Given the description of an element on the screen output the (x, y) to click on. 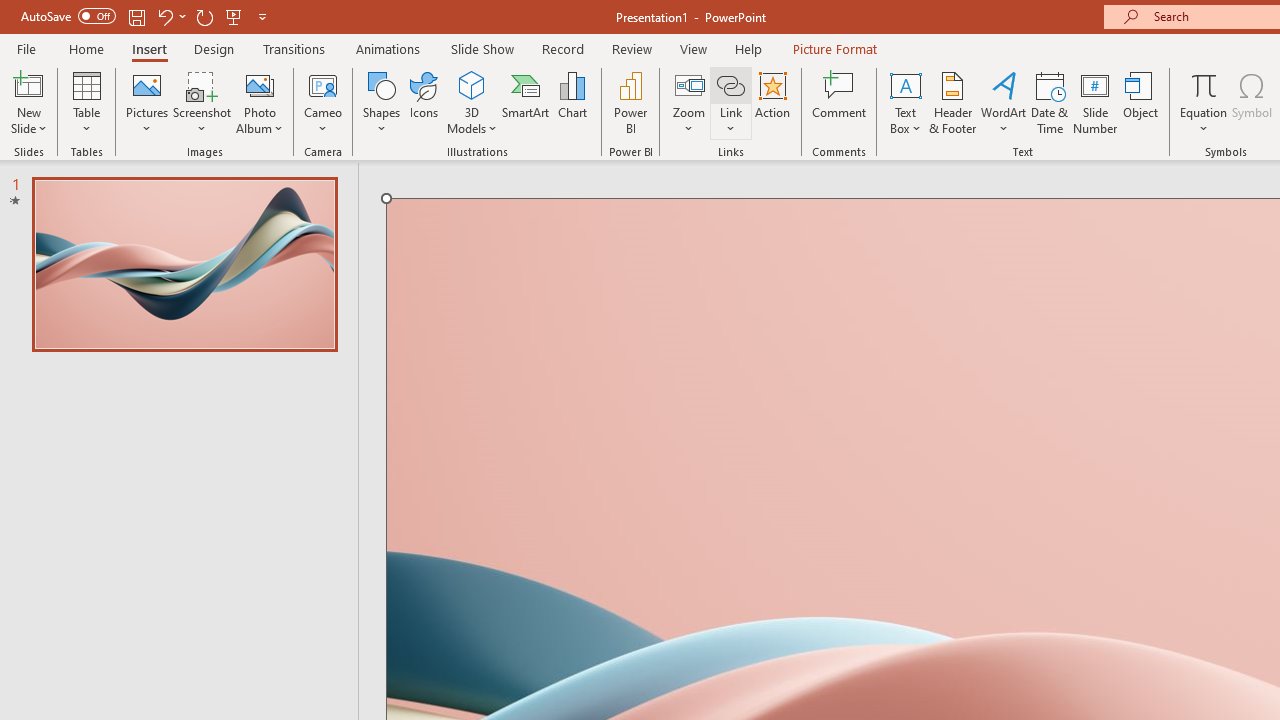
Link (731, 102)
Draw Horizontal Text Box (905, 84)
3D Models (472, 84)
Date & Time... (1050, 102)
Header & Footer... (952, 102)
